Given the description of an element on the screen output the (x, y) to click on. 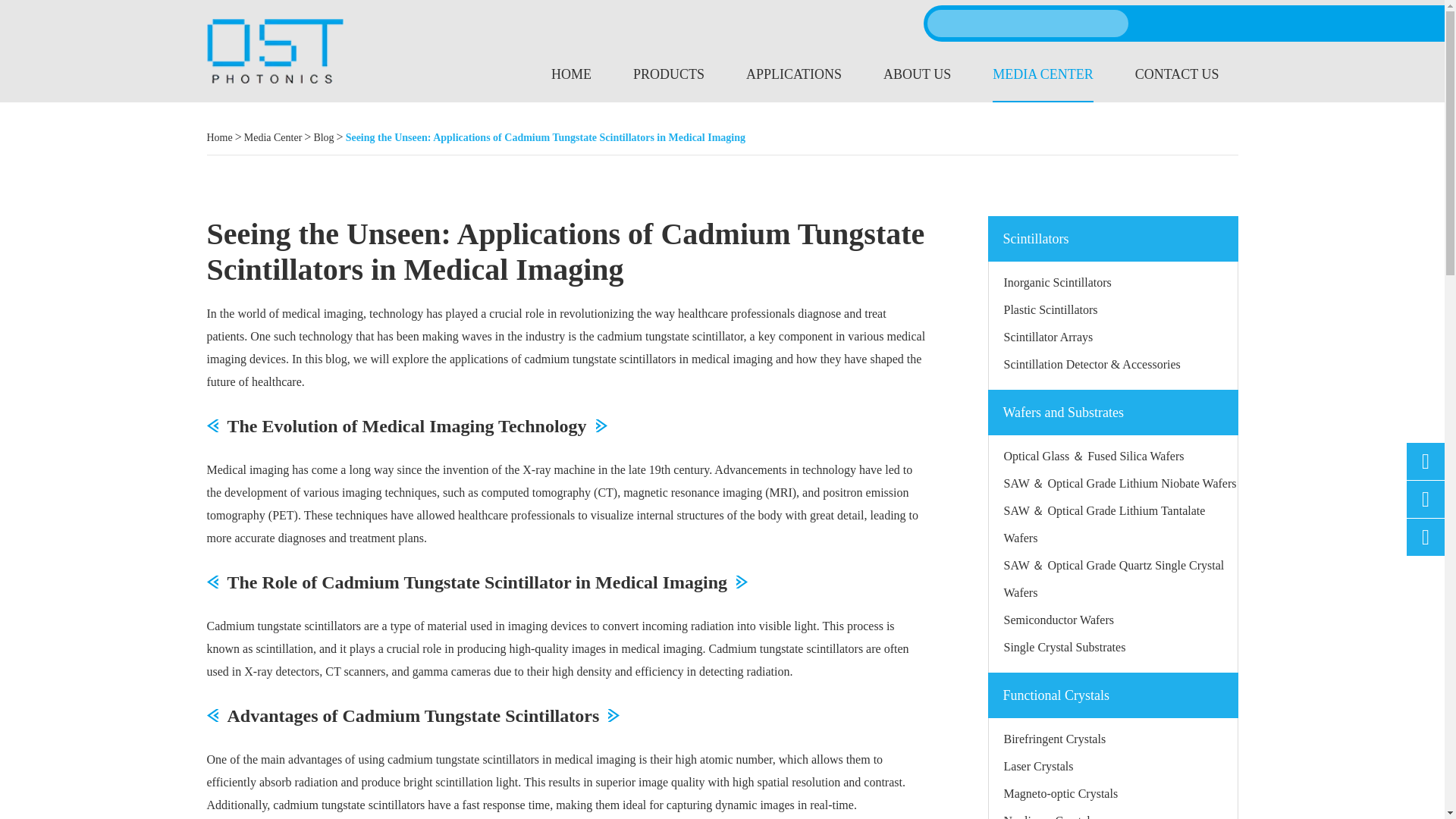
Blog (323, 137)
Media Center (273, 137)
